Given the description of an element on the screen output the (x, y) to click on. 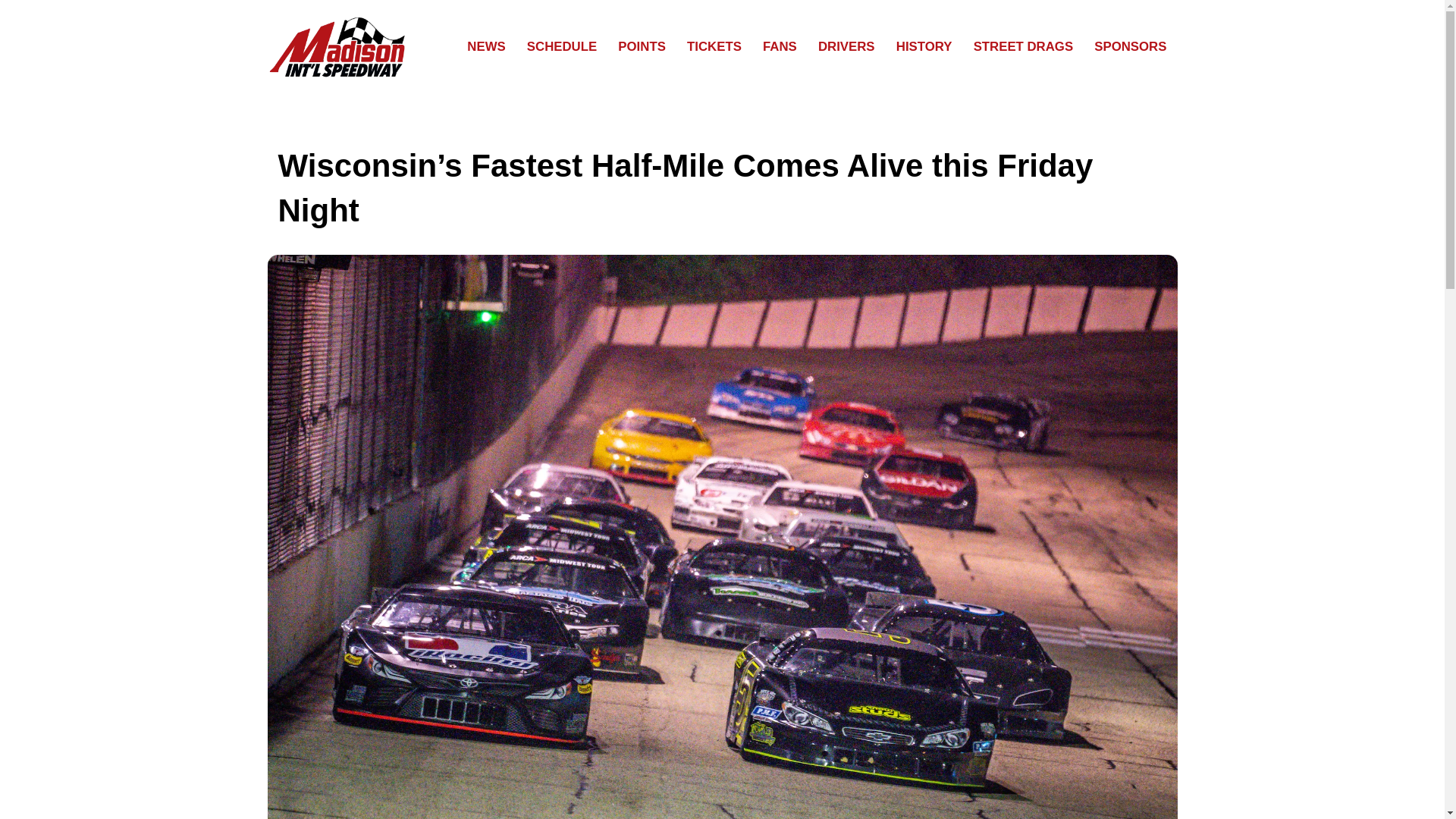
SPONSORS (1129, 47)
STREET DRAGS (1023, 47)
SCHEDULE (562, 47)
